Given the description of an element on the screen output the (x, y) to click on. 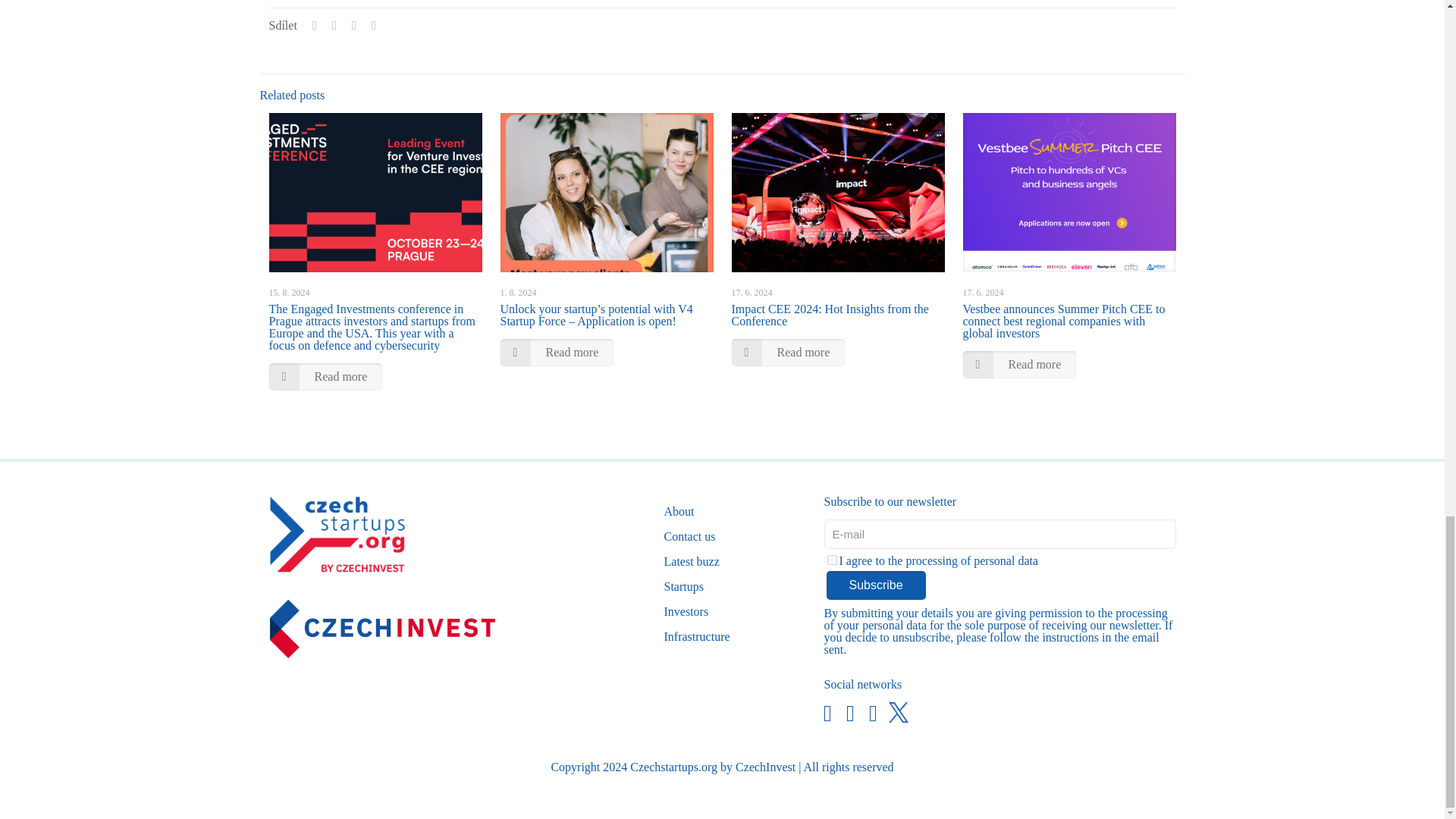
LinkedIn (849, 713)
Instagram (872, 713)
Twitter (895, 714)
1 (831, 560)
Facebook (826, 713)
Subscribe (876, 584)
